Given the description of an element on the screen output the (x, y) to click on. 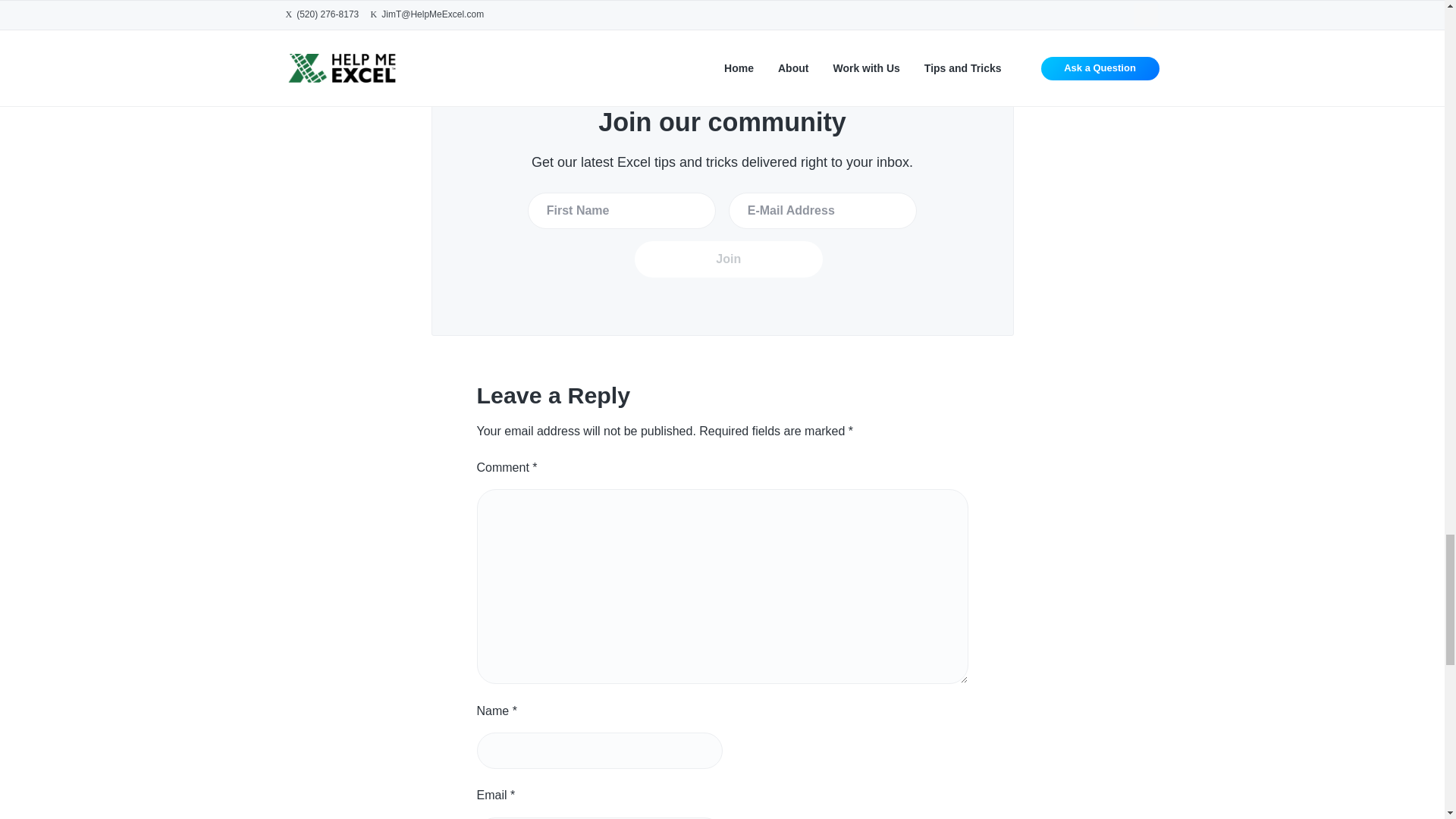
Join (728, 258)
Uncategorized (527, 20)
Join (728, 258)
